Given the description of an element on the screen output the (x, y) to click on. 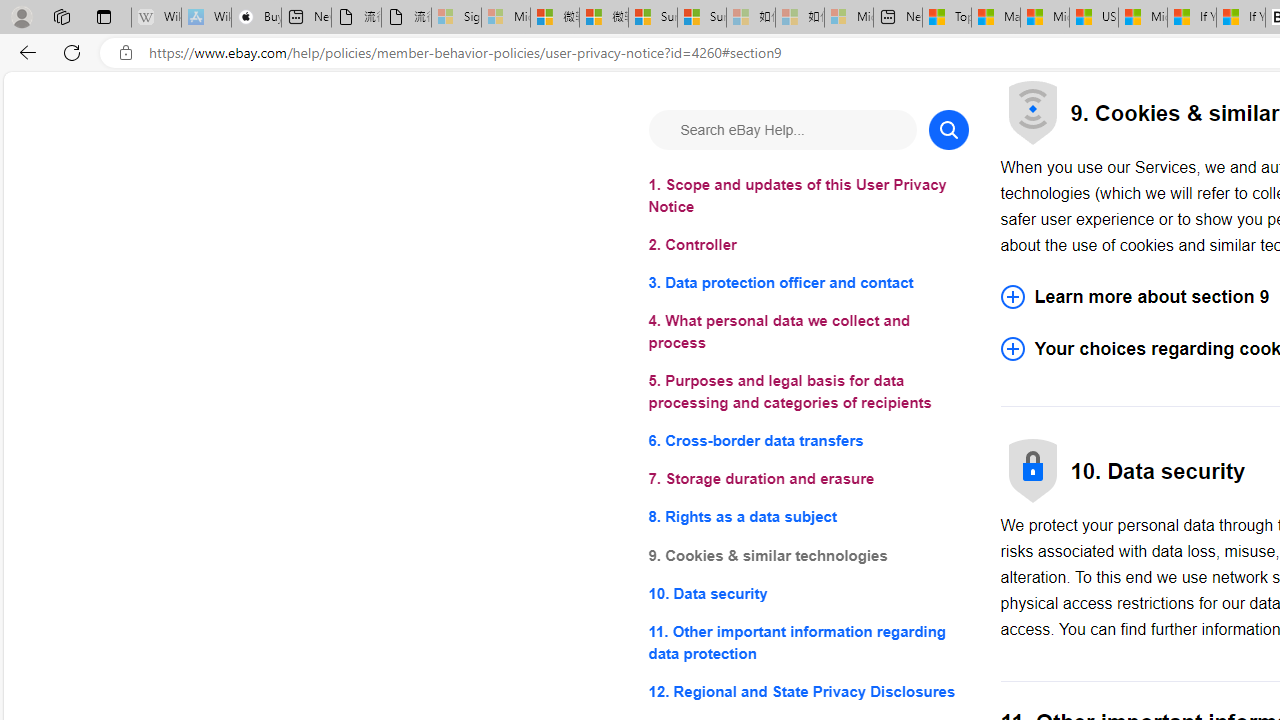
Top Stories - MSN (946, 17)
6. Cross-border data transfers (807, 440)
3. Data protection officer and contact (807, 283)
1. Scope and updates of this User Privacy Notice (807, 196)
Sign in to your Microsoft account - Sleeping (456, 17)
1. Scope and updates of this User Privacy Notice (807, 196)
6. Cross-border data transfers (807, 440)
12. Regional and State Privacy Disclosures (807, 690)
